Given the description of an element on the screen output the (x, y) to click on. 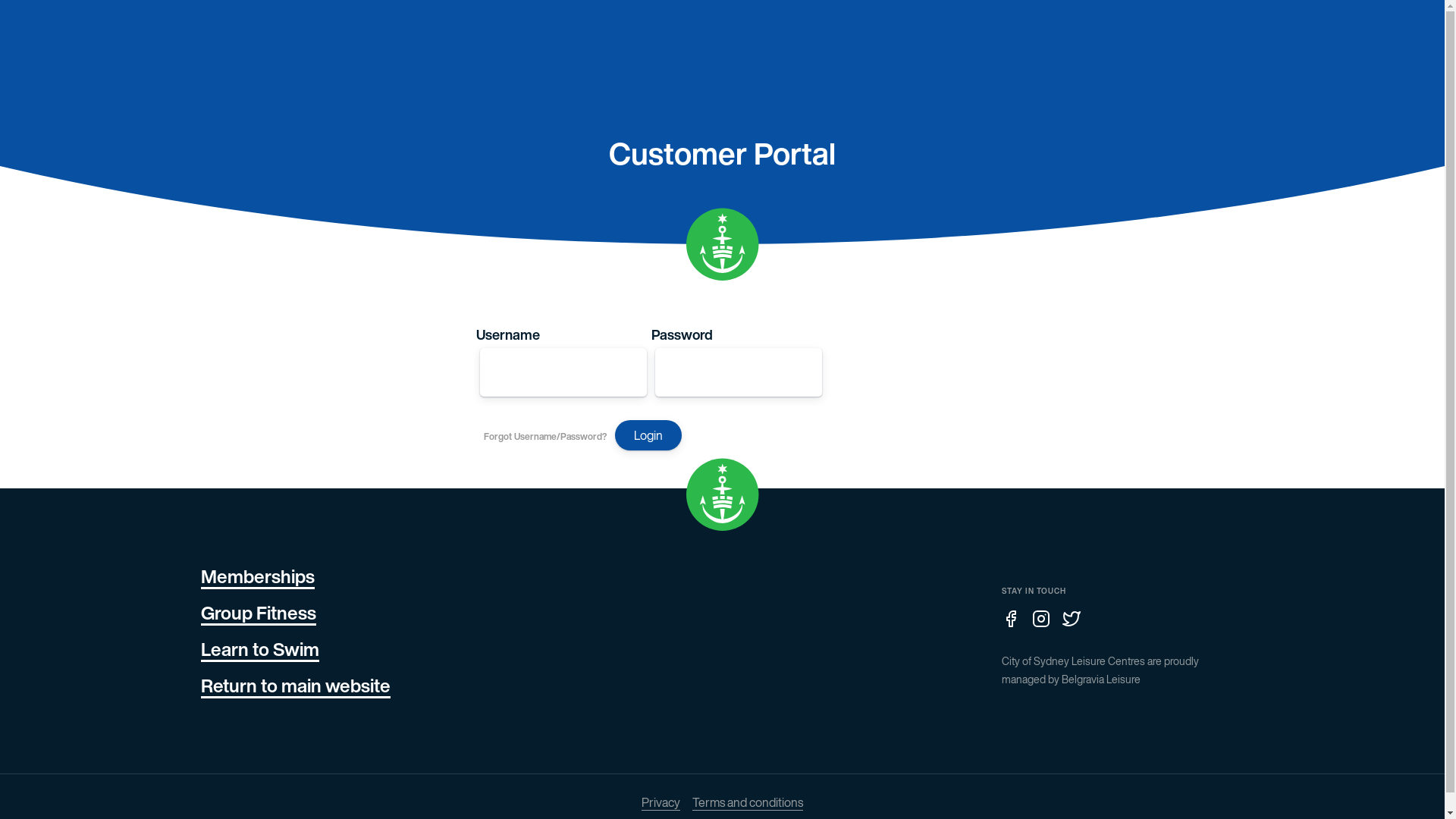
Terms and conditions Element type: text (747, 801)
Return to main website Element type: text (294, 685)
Login Element type: text (647, 435)
twitter Element type: hover (1076, 618)
facebook Element type: hover (1016, 618)
instagram Element type: hover (1046, 618)
Privacy Element type: text (660, 801)
Forgot Username/Password? Element type: text (541, 436)
Learn to Swim Element type: text (259, 648)
Memberships Element type: text (256, 576)
Group Fitness Element type: text (257, 612)
